Given the description of an element on the screen output the (x, y) to click on. 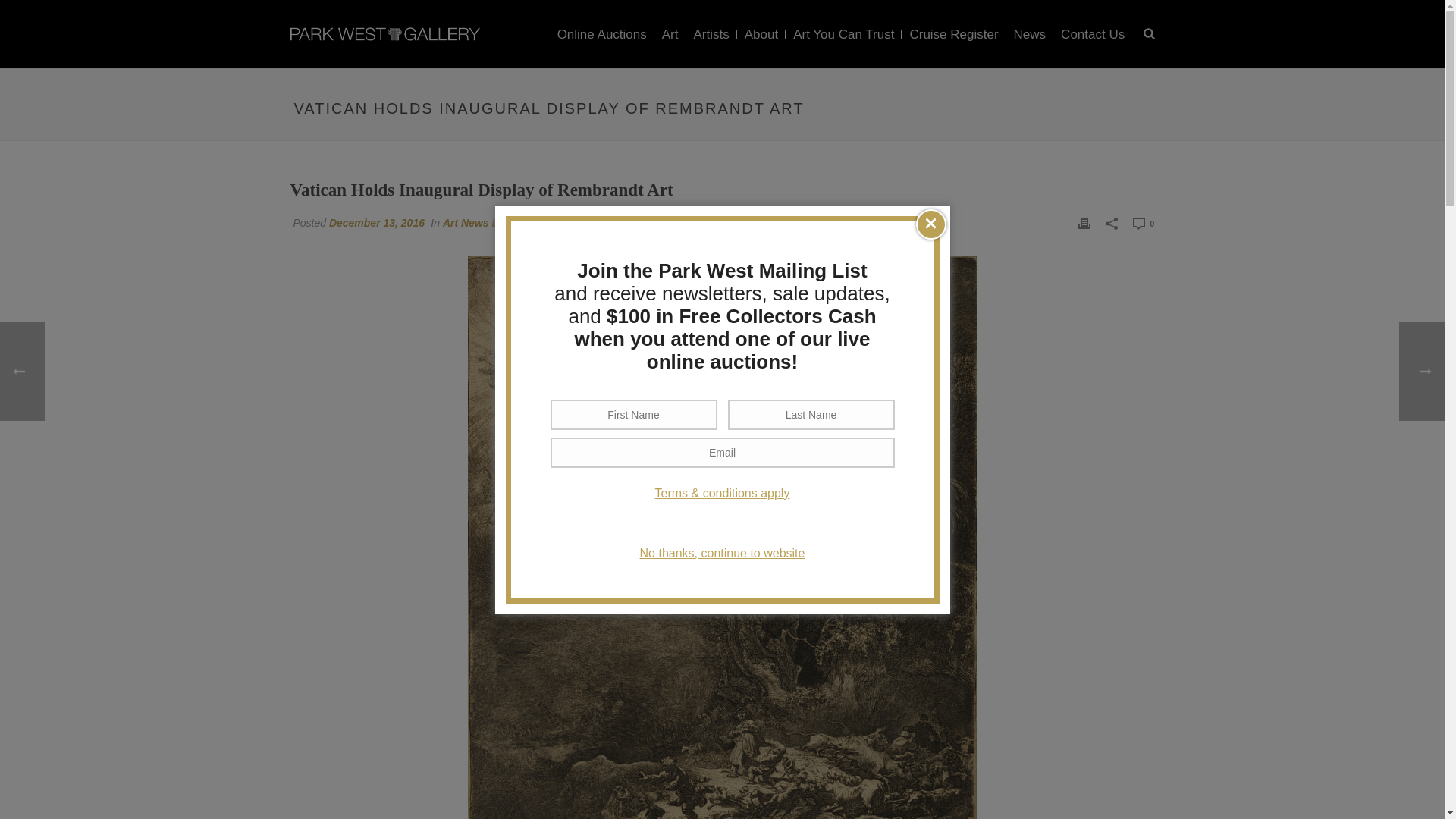
Online Auctions (601, 34)
Artists (710, 34)
Art You Can Trust (843, 34)
News (1030, 34)
About (761, 34)
News (1030, 34)
Art You Can Trust (843, 34)
Fine art gallery and art auctions at sea. (384, 33)
Contact Us (1092, 34)
Cruise Register (953, 34)
Artists (710, 34)
Art (669, 34)
Online Auctions (601, 34)
Contact Us (1092, 34)
Art (669, 34)
